Given the description of an element on the screen output the (x, y) to click on. 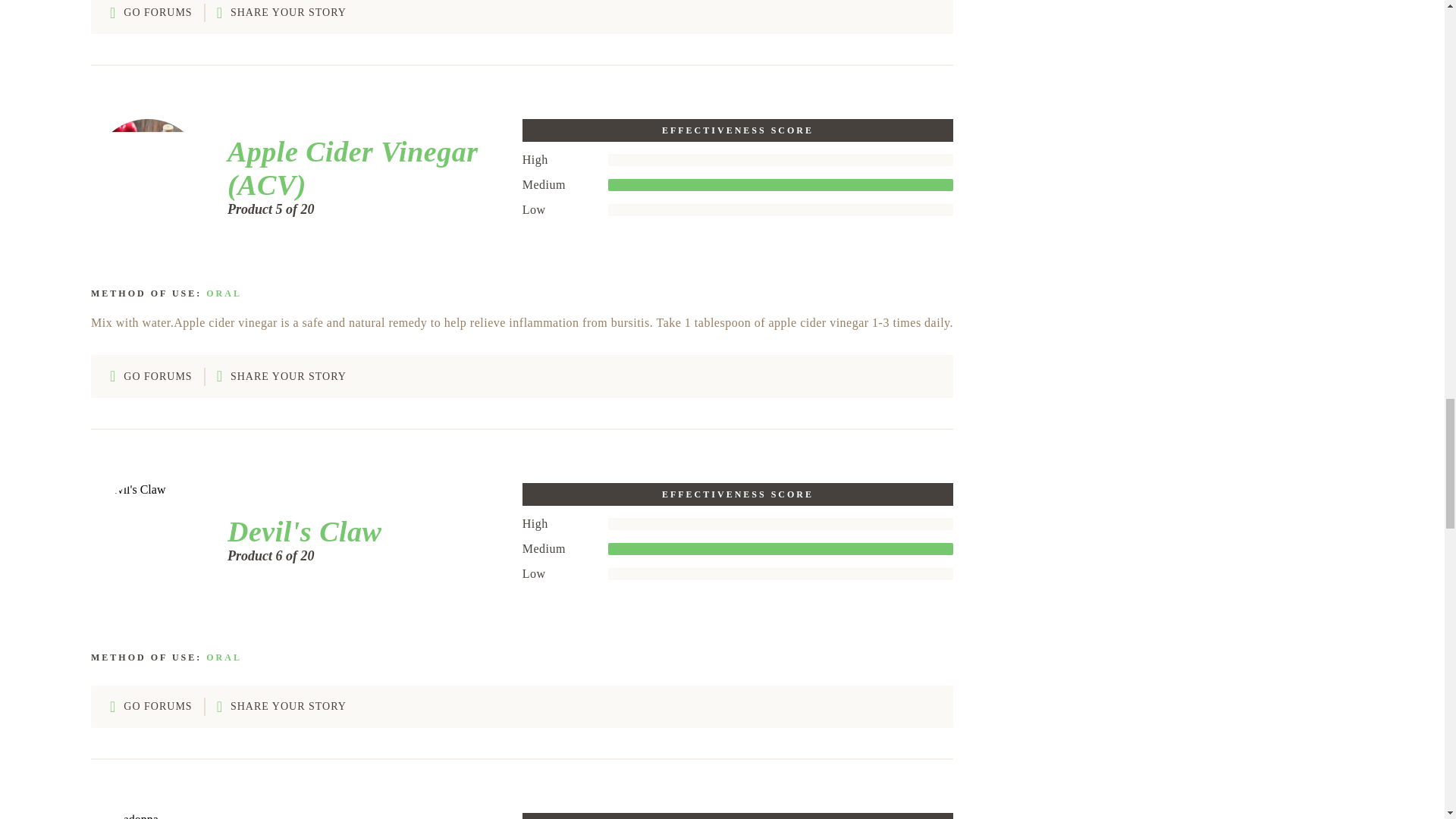
Devil's Claw (299, 531)
GO FORUMS (151, 13)
SHARE YOUR STORY (281, 707)
SHARE YOUR STORY (281, 376)
SHARE YOUR STORY (281, 13)
GO FORUMS (151, 376)
GO FORUMS (151, 707)
